Given the description of an element on the screen output the (x, y) to click on. 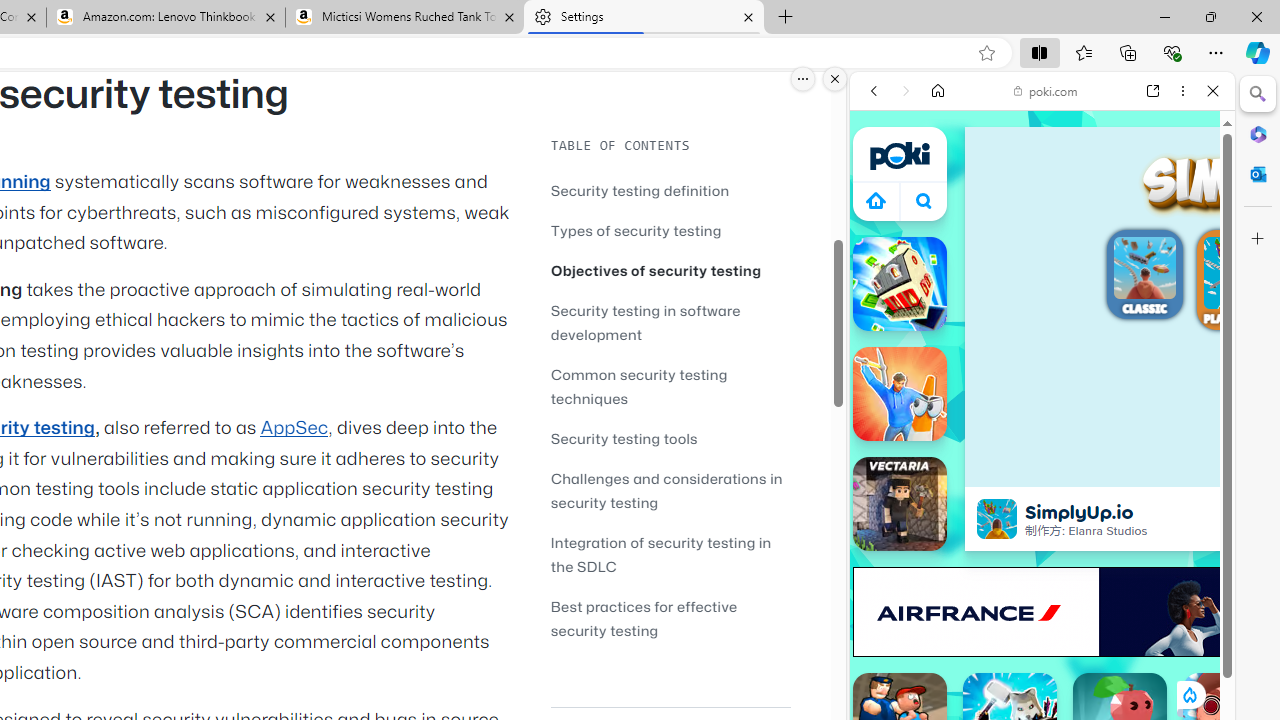
Best practices for effective security testing (670, 618)
Class: hvLtMSipvVng82x9Seuh (997, 519)
Types of security testing (670, 230)
Security testing tools (623, 438)
Io Games (1042, 617)
Sports Games (1042, 665)
Stack City (899, 283)
Shooting Games (1042, 518)
